Given the description of an element on the screen output the (x, y) to click on. 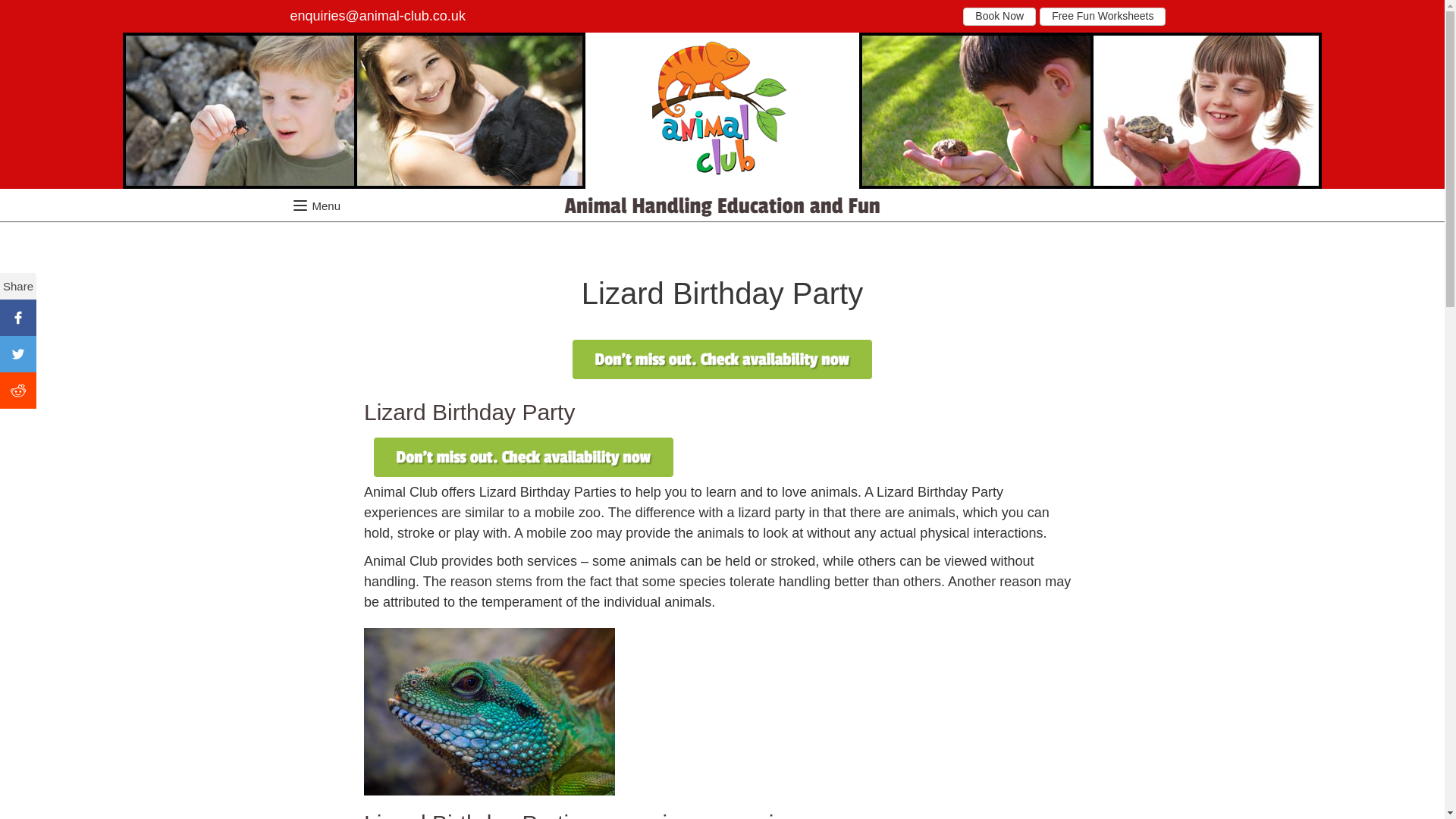
Menu (298, 205)
Free Fun Worksheets (1102, 16)
- (722, 104)
Book Now (998, 16)
